Given the description of an element on the screen output the (x, y) to click on. 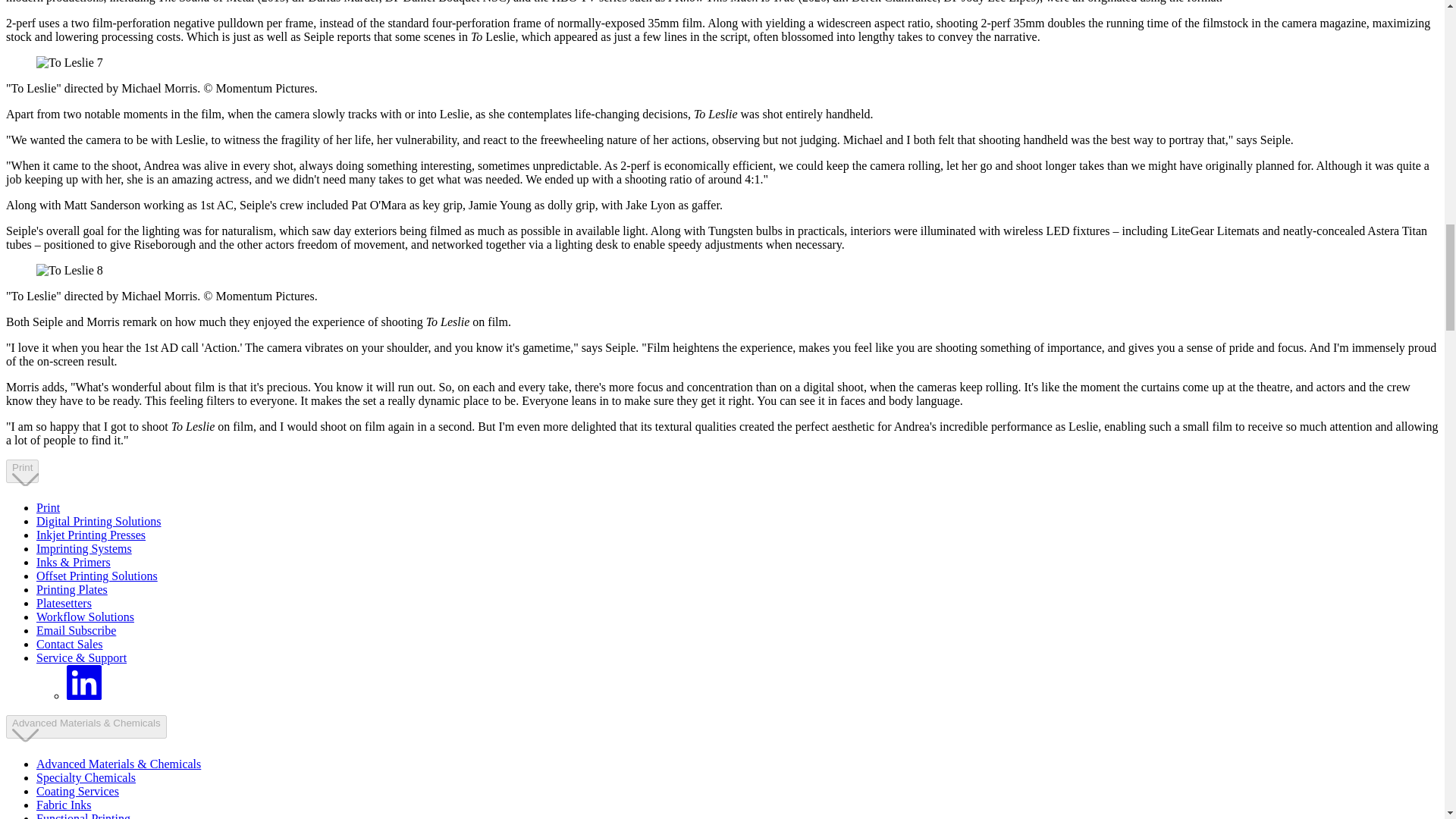
Platesetters (63, 603)
Contact Sales (69, 644)
Imprinting Systems (84, 548)
Fabric Inks (63, 804)
Workflow Solutions (84, 616)
Inkjet Printing Presses (90, 534)
Platesetters (63, 603)
Printing Plates (71, 589)
Printing Plates (71, 589)
Email Subscribe (76, 630)
LinkedIn Logo (83, 682)
Print (47, 507)
Specialty Chemicals (22, 471)
Email Subscribe (85, 777)
